Given the description of an element on the screen output the (x, y) to click on. 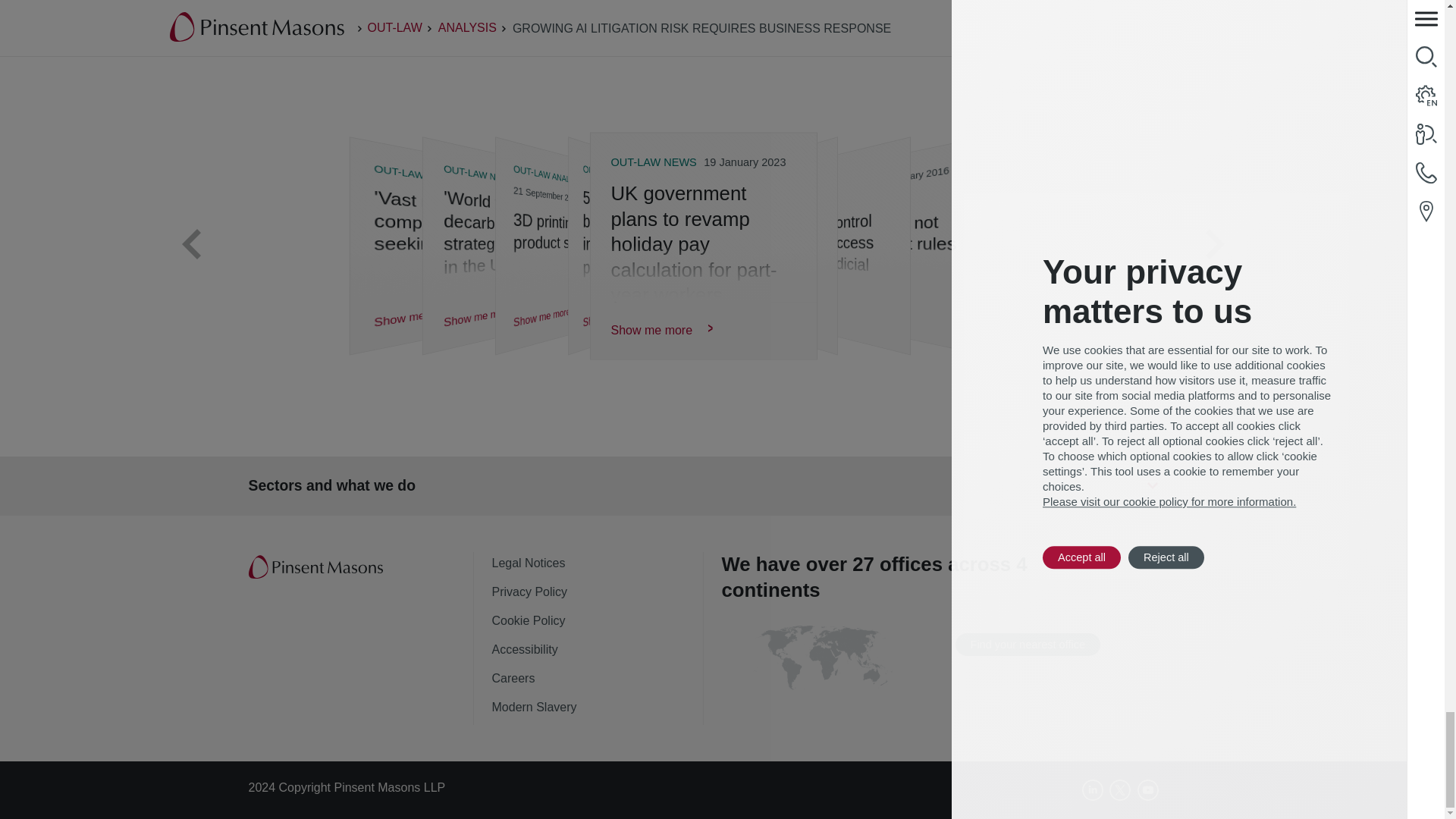
Pinsent Masons (316, 567)
Pinsent Masons LinkedIn (1092, 789)
Pinsent Masons Twitter (1120, 789)
